Given the description of an element on the screen output the (x, y) to click on. 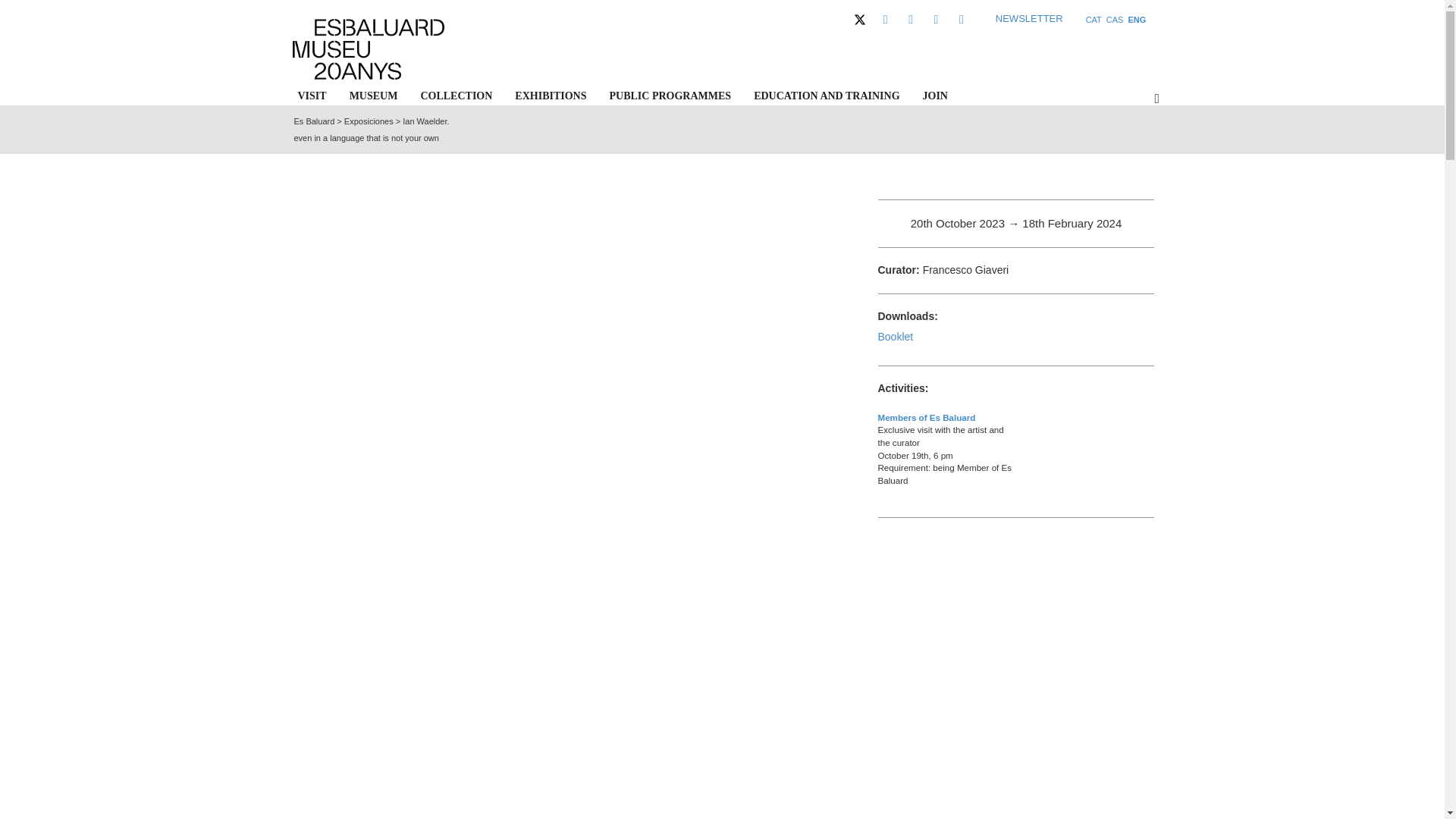
Ir a Exposiciones. (368, 121)
Ir a Es Baluard. (314, 121)
